Given the description of an element on the screen output the (x, y) to click on. 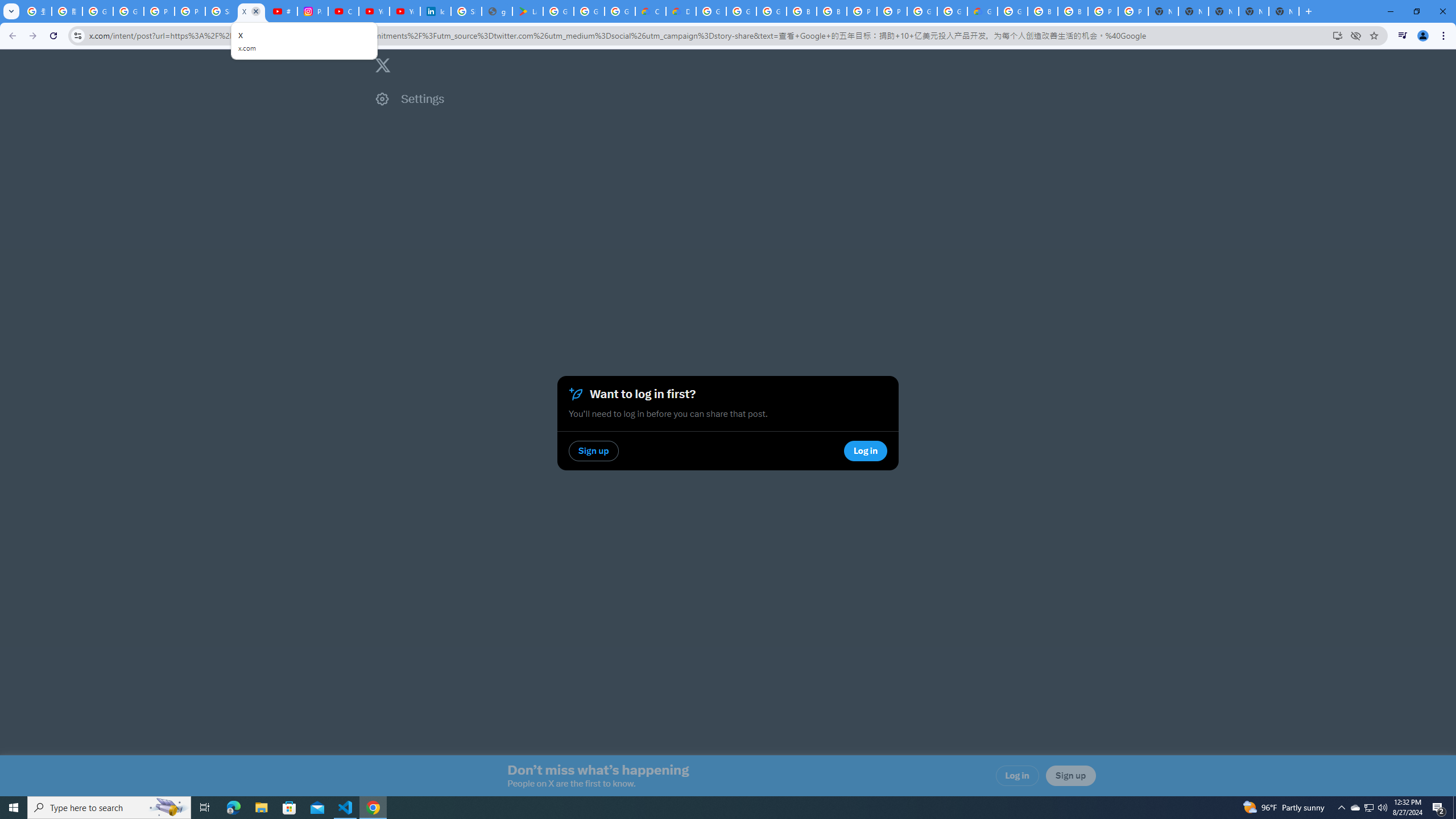
Google Cloud Platform (922, 11)
Install X (1336, 35)
Google Cloud Platform (951, 11)
Browse Chrome as a guest - Computer - Google Chrome Help (1042, 11)
Browse Chrome as a guest - Computer - Google Chrome Help (801, 11)
